Given the description of an element on the screen output the (x, y) to click on. 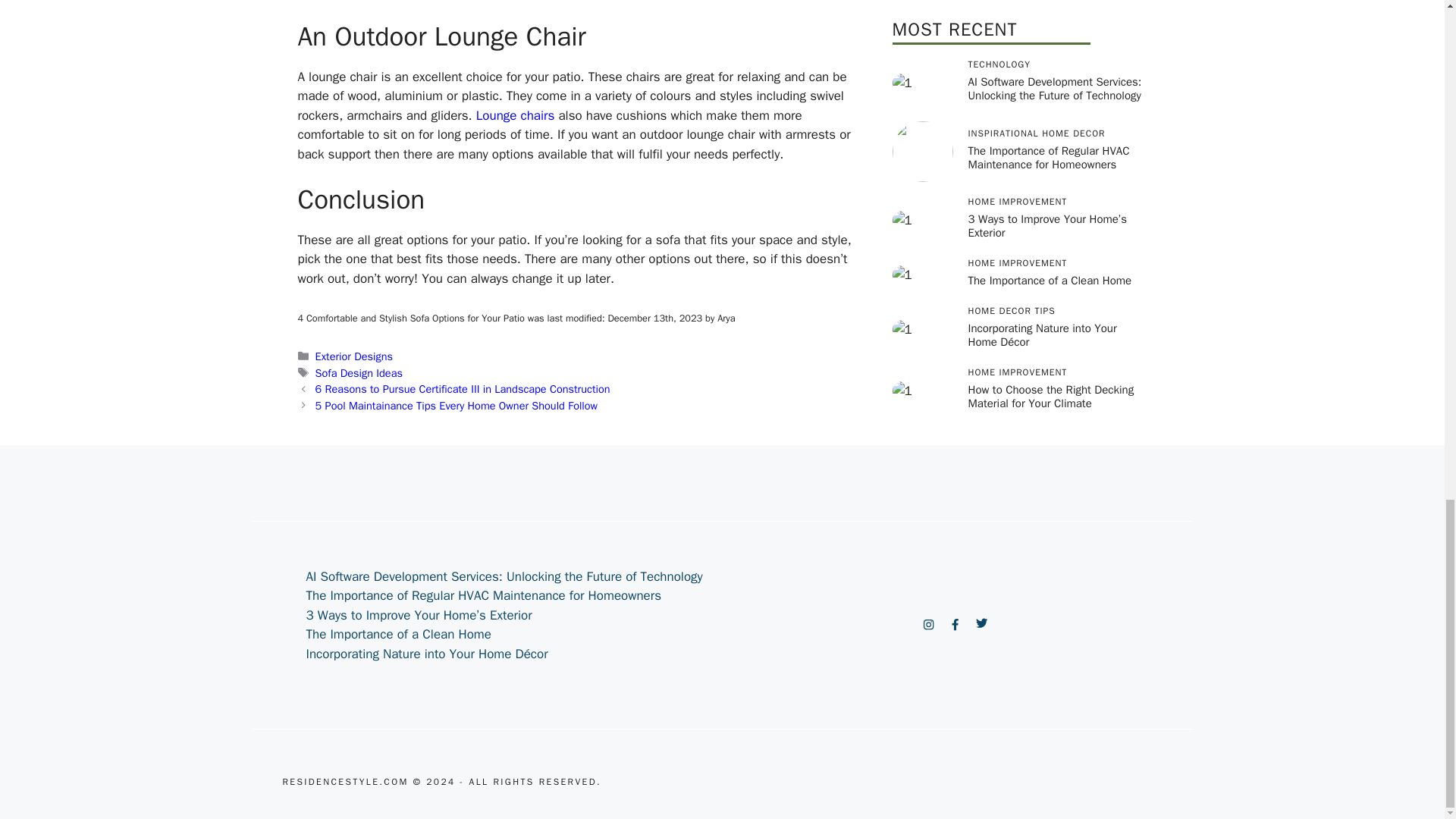
Scroll back to top (1406, 241)
